Given the description of an element on the screen output the (x, y) to click on. 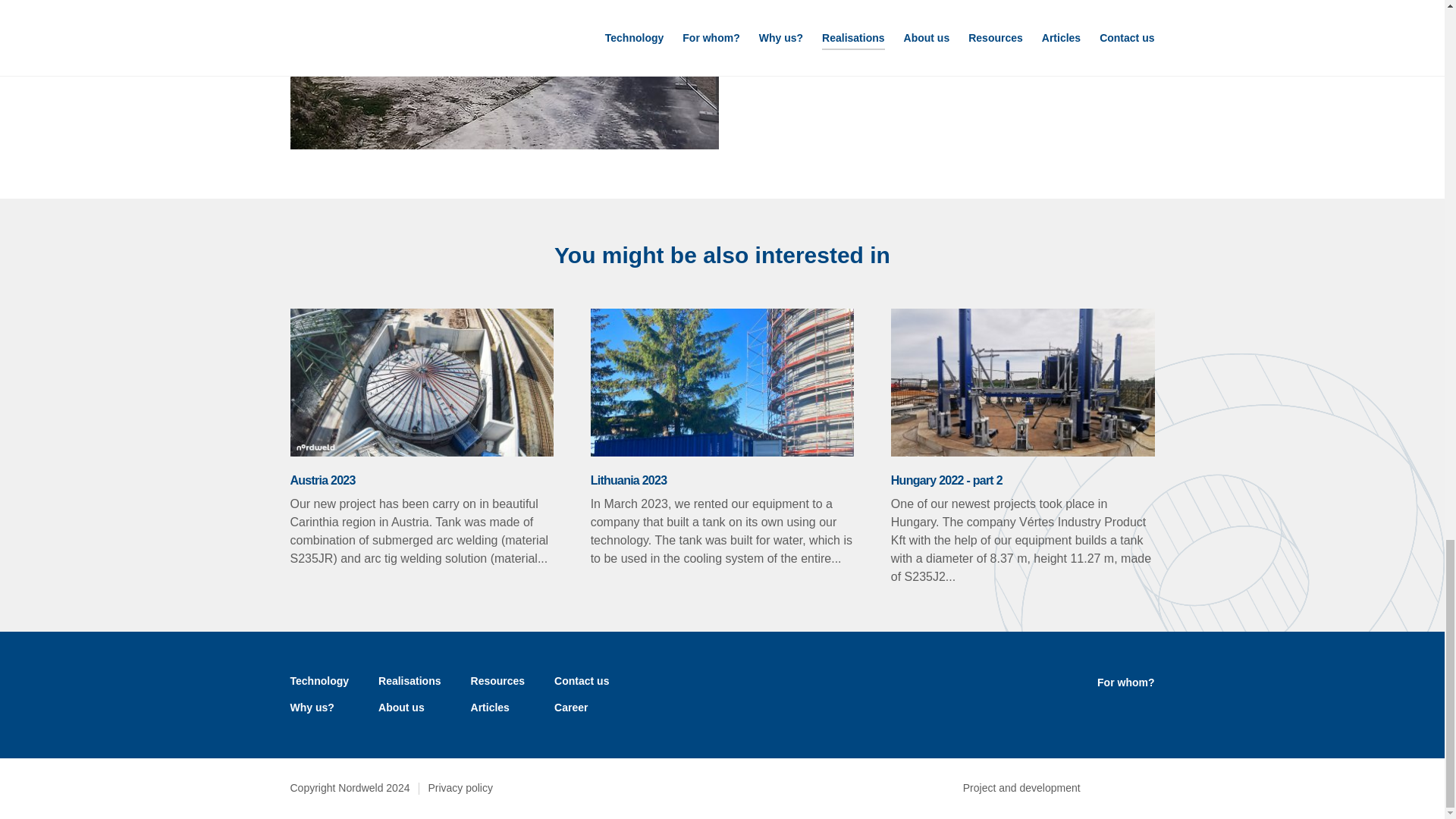
Articles (489, 709)
Project and development (1058, 787)
Why us? (311, 709)
Contact us (581, 682)
For whom? (1125, 684)
Resources (497, 682)
About us (401, 709)
Career (571, 709)
Privacy policy (460, 788)
Technology (319, 682)
Realisations (409, 682)
